Given the description of an element on the screen output the (x, y) to click on. 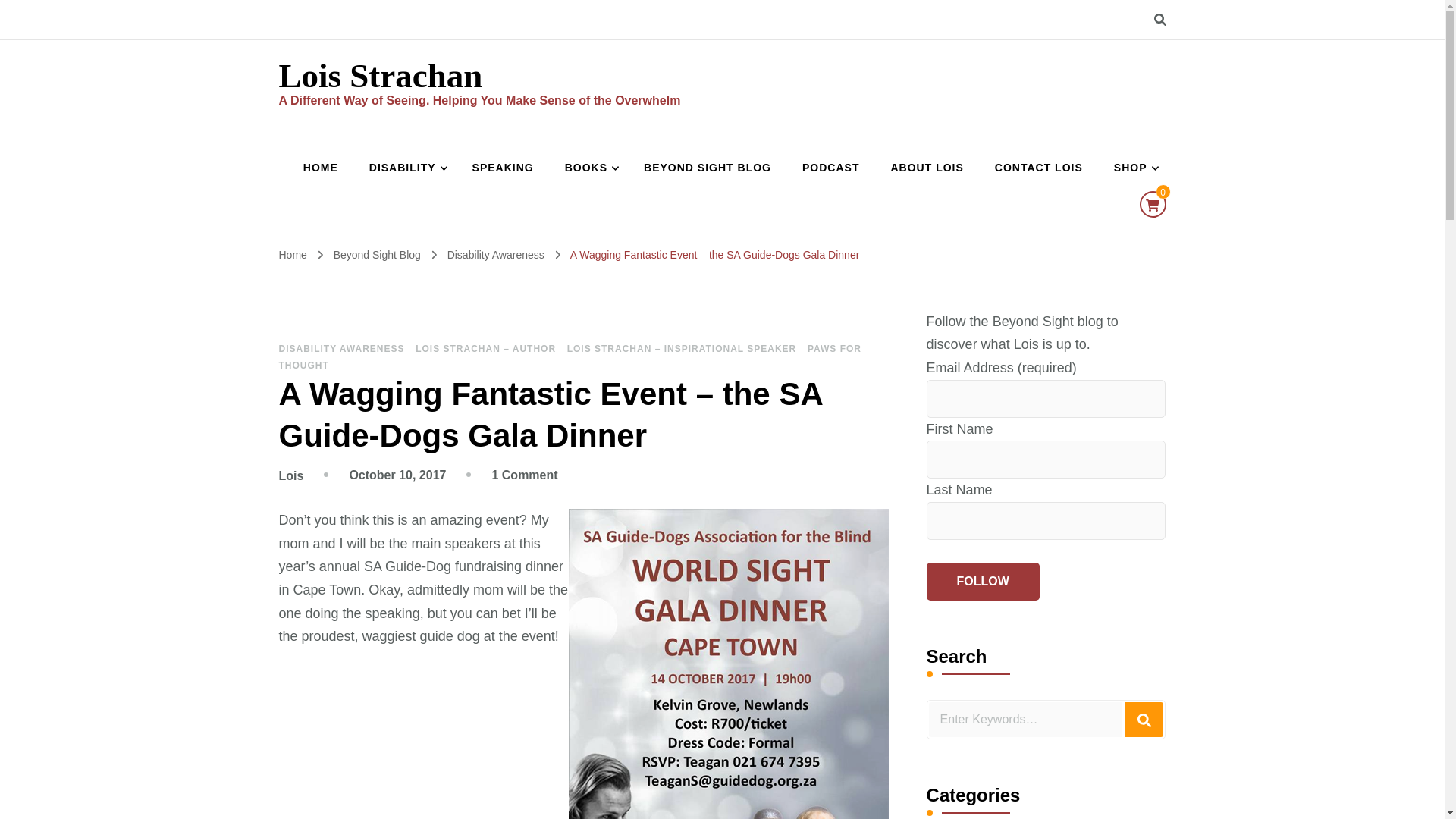
DISABILITY AWARENESS (341, 348)
SPEAKING (502, 167)
Lois Strachan (381, 75)
Disability Awareness (496, 254)
October 10, 2017 (397, 474)
Search (1143, 719)
ABOUT LOIS (926, 167)
NewImage.png (728, 663)
HOME (320, 167)
Follow (982, 581)
BOOKS (588, 167)
Lois (291, 475)
PODCAST (830, 167)
SHOP (1133, 167)
BEYOND SIGHT BLOG (707, 167)
